Given the description of an element on the screen output the (x, y) to click on. 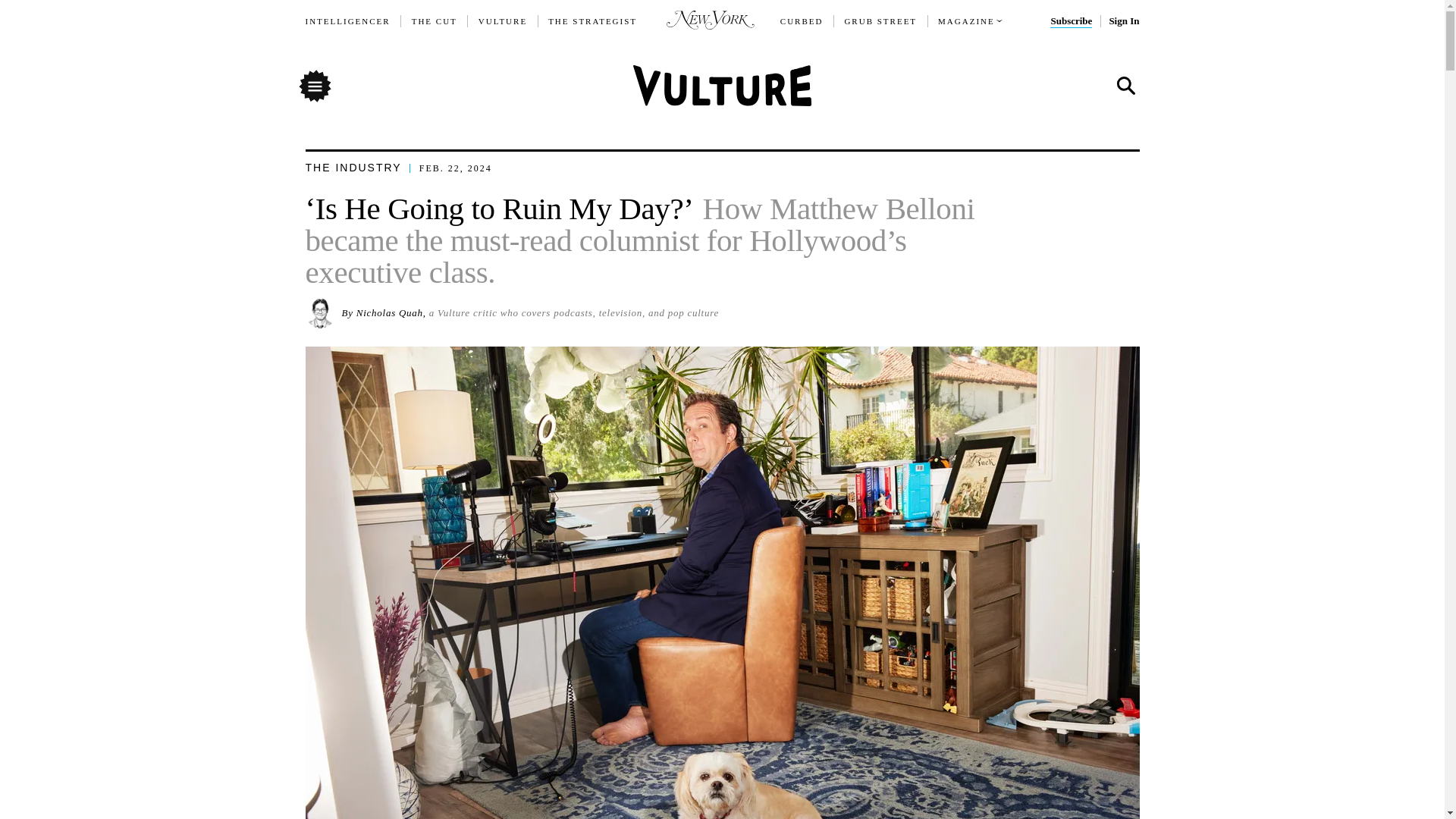
THE STRATEGIST (592, 21)
MAGAZINE (965, 21)
Sign In (1123, 21)
GRUB STREET (880, 21)
VULTURE (503, 21)
Subscribe (1070, 21)
INTELLIGENCER (347, 21)
Menu (314, 84)
THE CUT (434, 21)
Search (1124, 86)
